Given the description of an element on the screen output the (x, y) to click on. 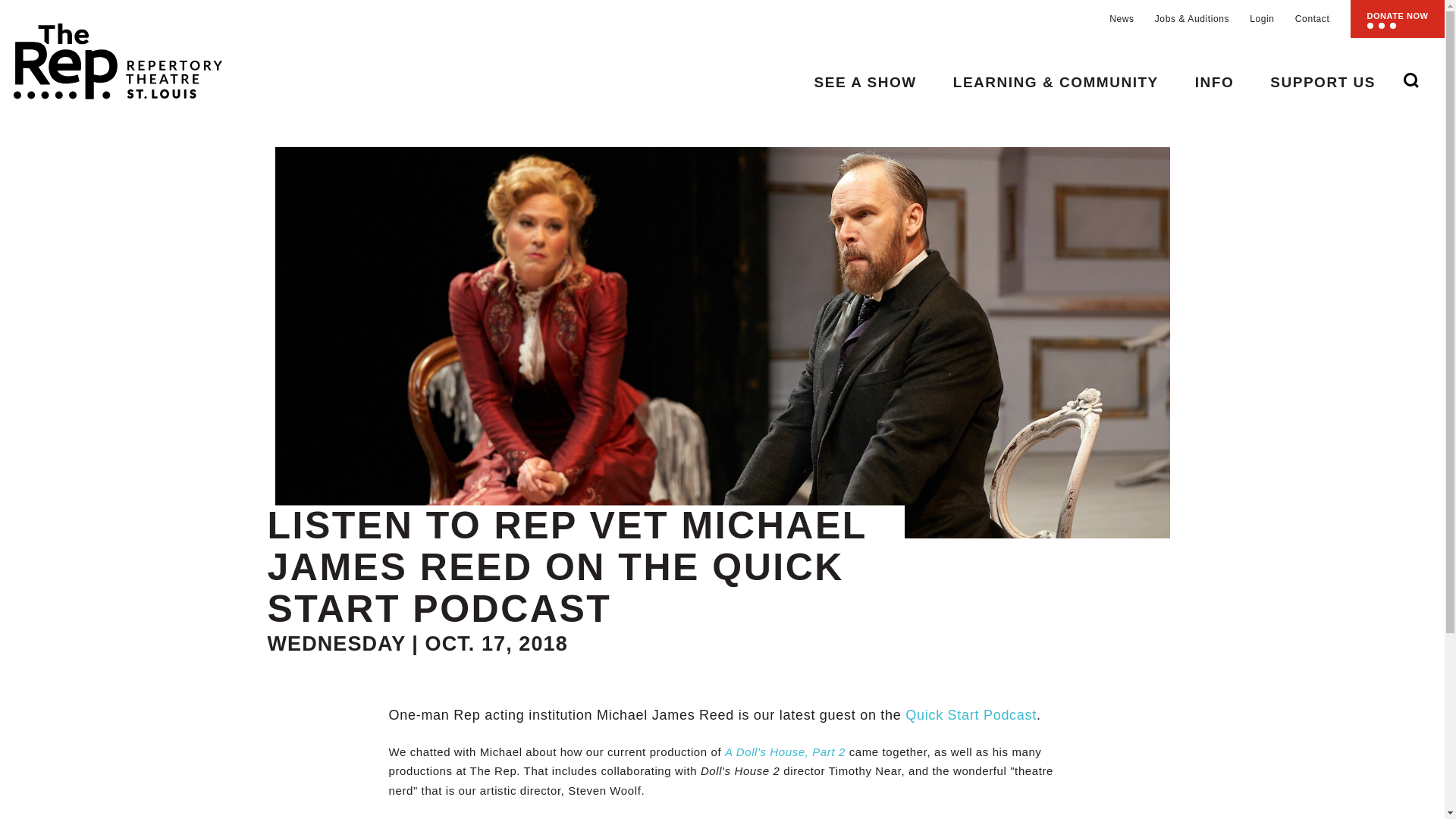
A Doll's House, Part 2 (785, 751)
Contact (1312, 18)
Repertory Theatre of St. Louis (111, 54)
INFO (1214, 82)
Quick Start Podcast (970, 714)
Login (1261, 18)
SUPPORT US (1322, 82)
SEE A SHOW (865, 82)
News (1121, 18)
Repertory Theatre of St. Louis (111, 54)
